Given the description of an element on the screen output the (x, y) to click on. 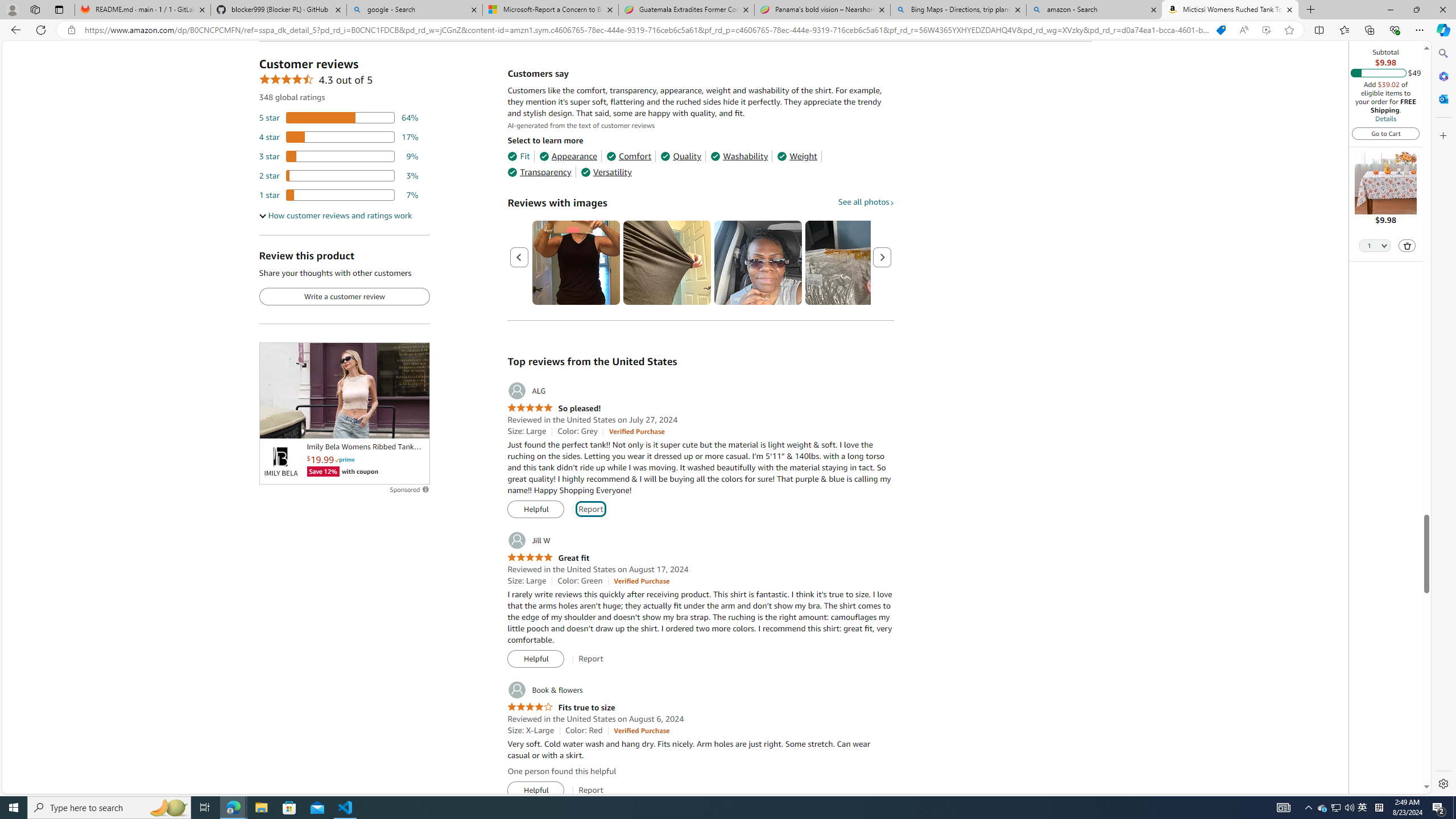
Unmute (414, 424)
4.0 out of 5 stars Fits true to size (560, 707)
Pause (273, 424)
Enhance video (1266, 29)
Next page (882, 256)
Write a customer review (344, 296)
How customer reviews and ratings work (335, 215)
